Given the description of an element on the screen output the (x, y) to click on. 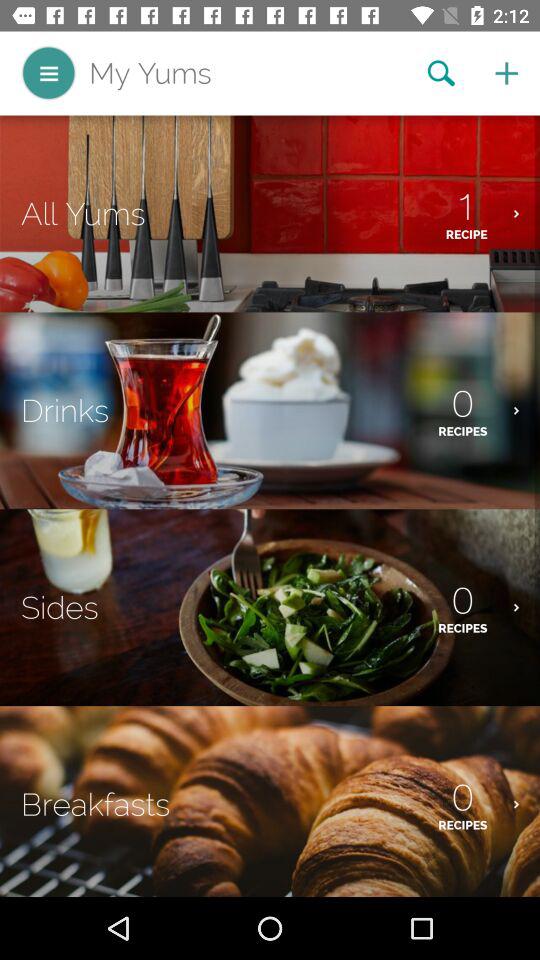
text that reads drinks (64, 410)
select the  arrow in the drinks category (527, 410)
go to right arrow on third image from top (527, 607)
